Given the description of an element on the screen output the (x, y) to click on. 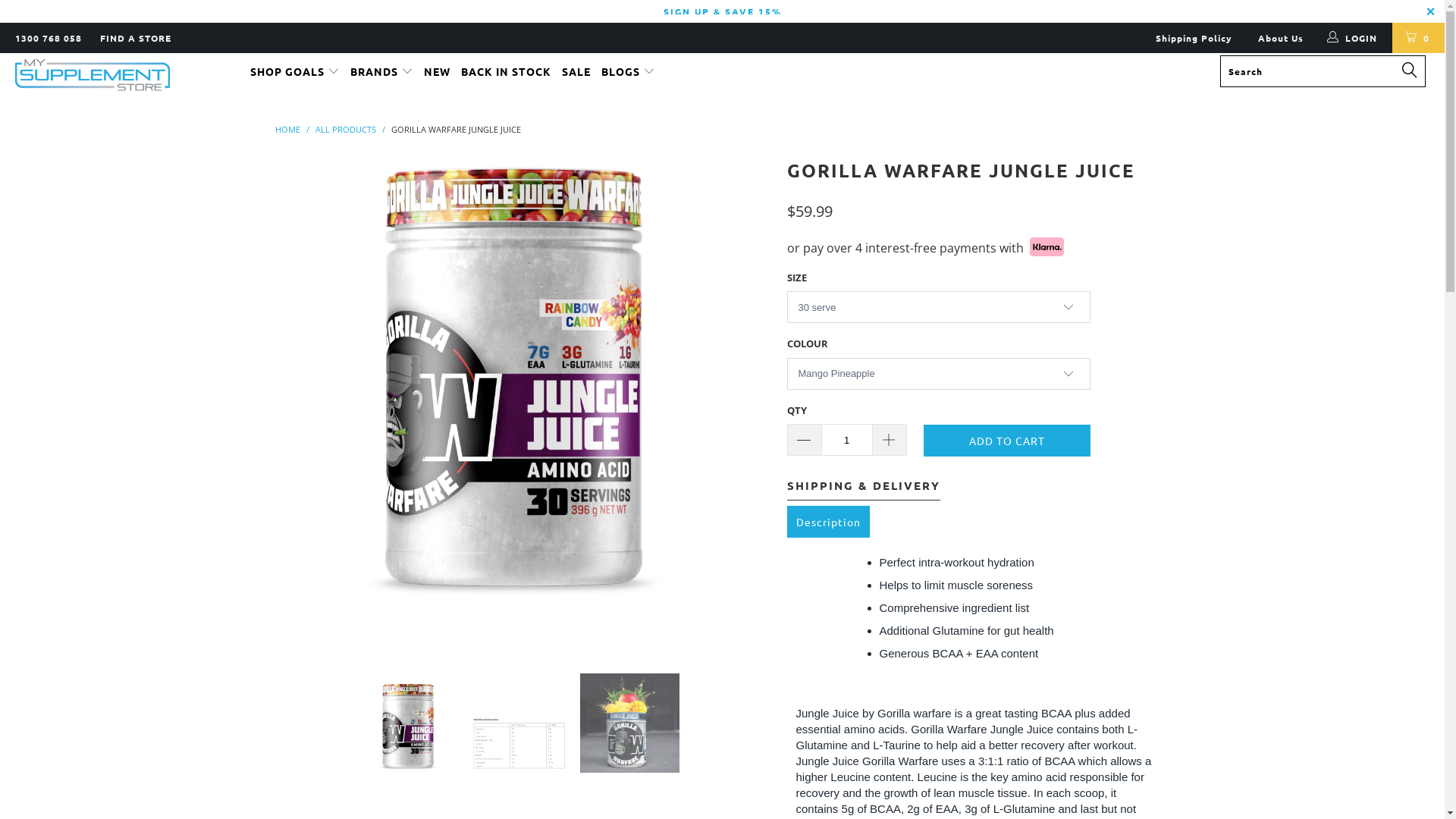
HOME Element type: text (286, 128)
Description Element type: text (828, 521)
SHOP GOALS Element type: text (294, 71)
Shipping Policy Element type: text (1193, 37)
BLOGS Element type: text (628, 71)
SALE Element type: text (575, 71)
FIND A STORE Element type: text (135, 37)
0 Element type: text (1418, 37)
BRANDS Element type: text (381, 71)
or pay over 4 interest-free payments with  Element type: text (925, 246)
LOGIN Element type: text (1352, 37)
My Supplement Store Element type: hover (123, 75)
ADD TO CART Element type: text (1006, 440)
About Us Element type: text (1280, 37)
NEW Element type: text (436, 71)
BACK IN STOCK Element type: text (506, 71)
ALL PRODUCTS Element type: text (345, 128)
1300 768 058 Element type: text (48, 37)
